Given the description of an element on the screen output the (x, y) to click on. 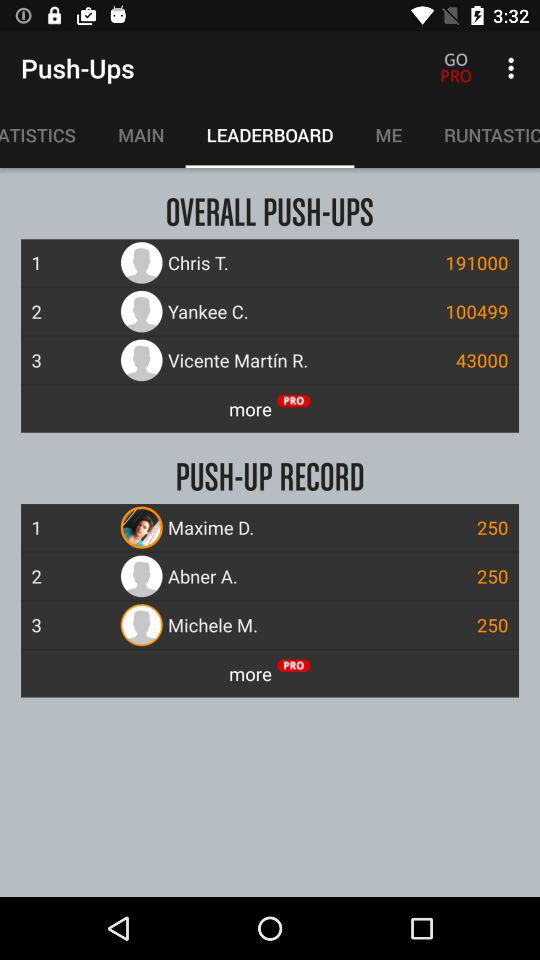
select the item to the right of leaderboard (388, 135)
